Given the description of an element on the screen output the (x, y) to click on. 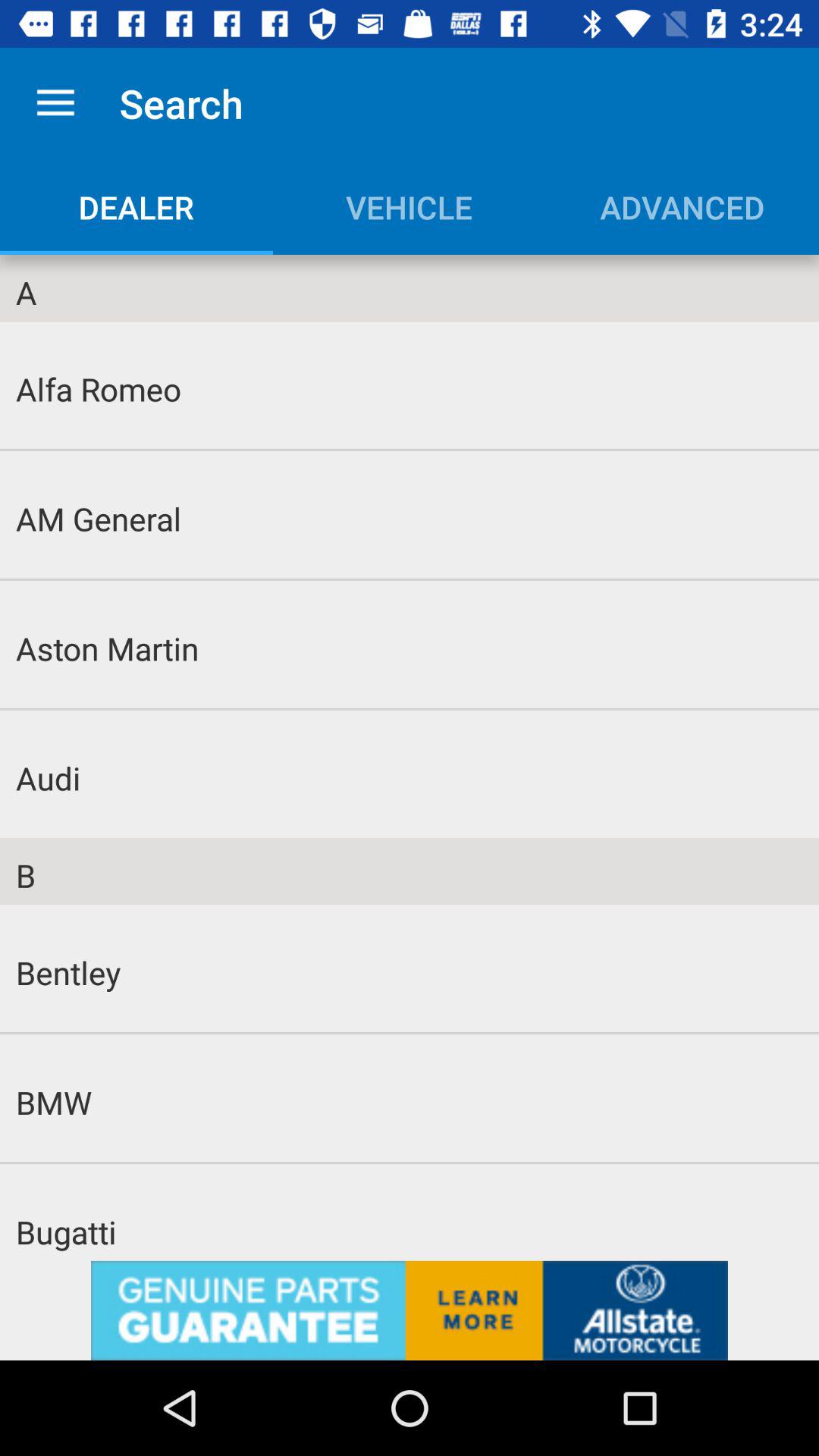
launch item below bugatti icon (409, 1310)
